Given the description of an element on the screen output the (x, y) to click on. 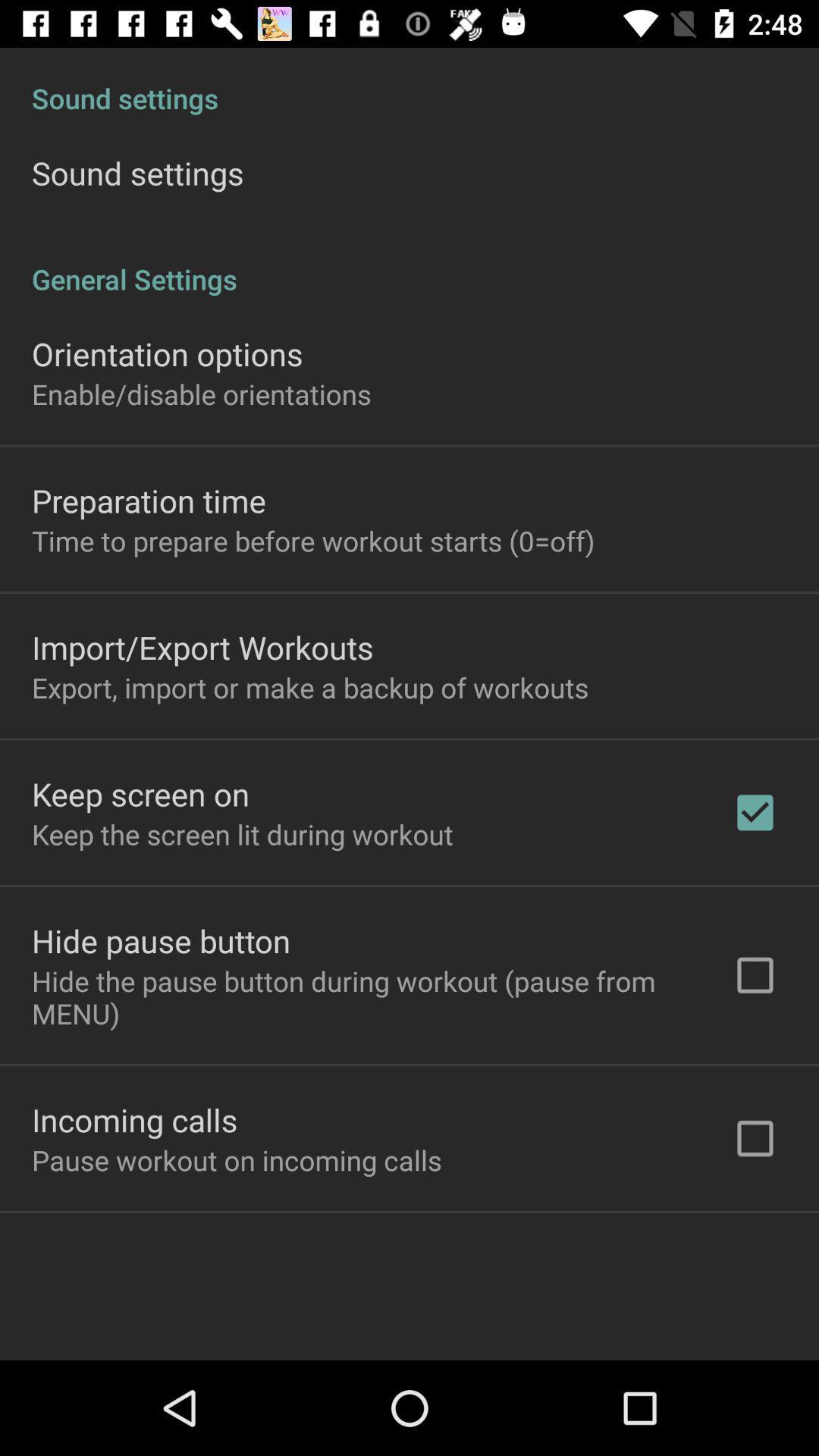
turn off general settings item (409, 263)
